Given the description of an element on the screen output the (x, y) to click on. 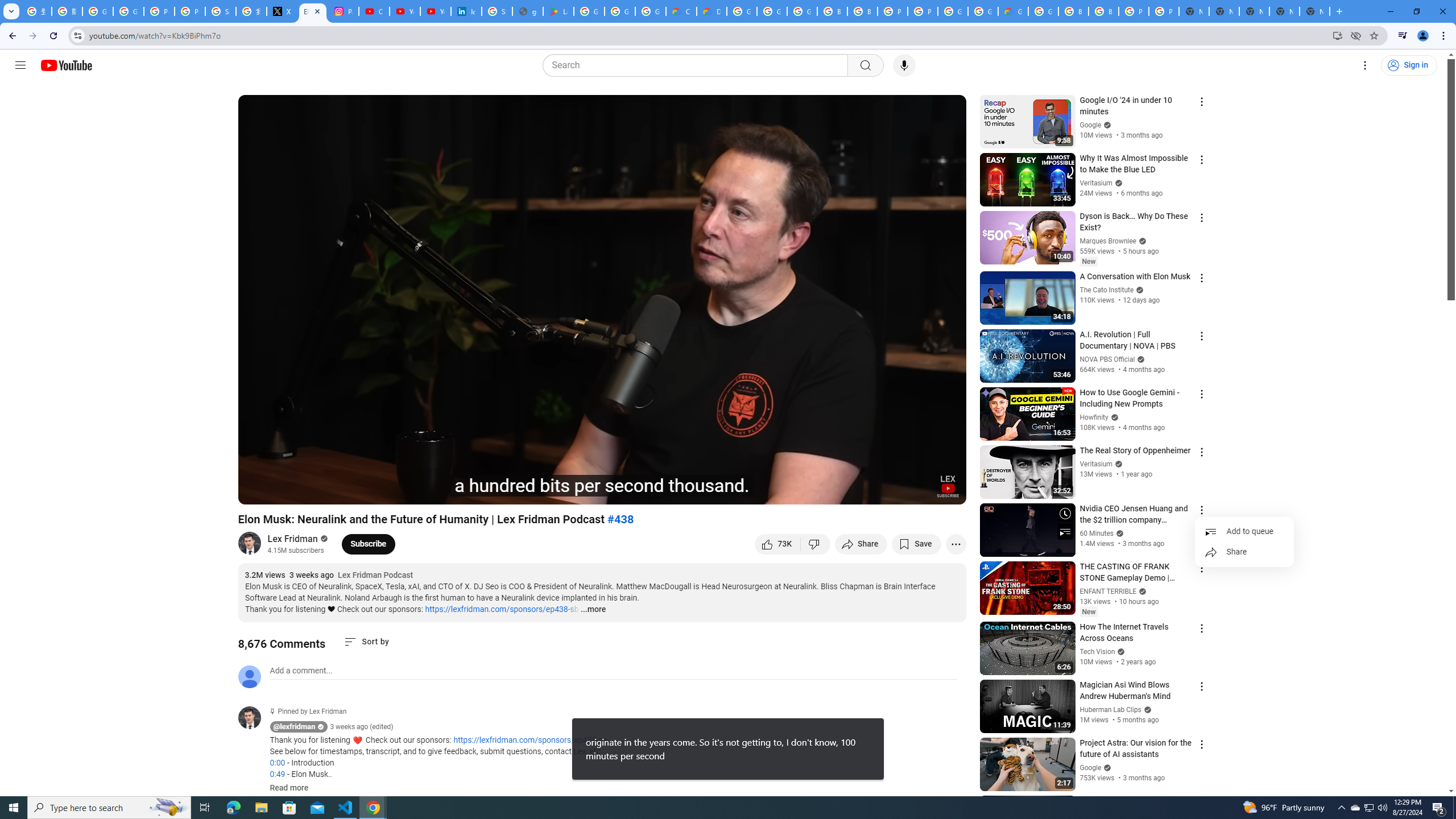
Play (k) (257, 490)
Channel watermark (947, 486)
